Given the description of an element on the screen output the (x, y) to click on. 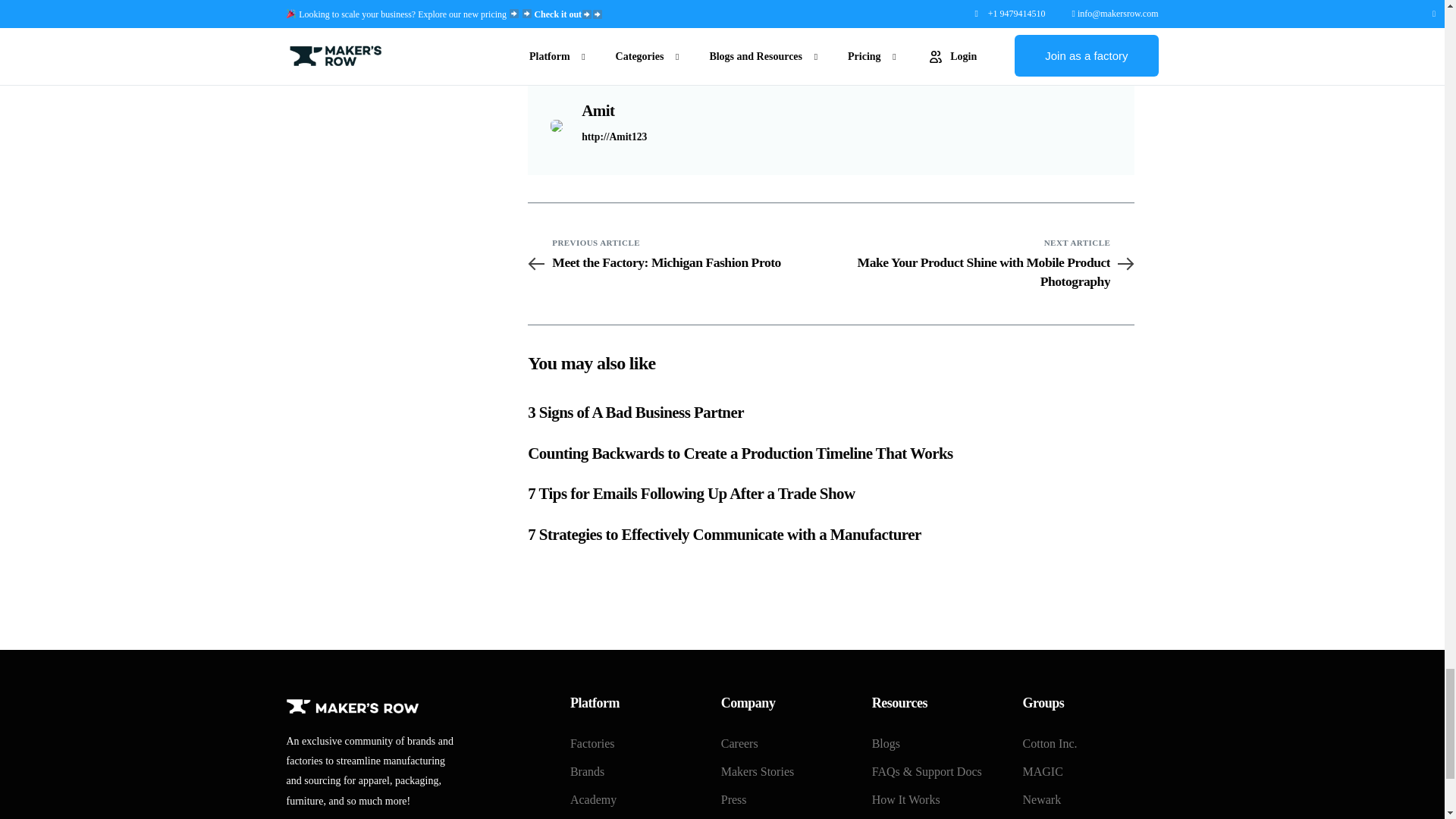
Permanent Link to 3 Signs of A Bad Business Partner (635, 412)
Meet the Factory: Michigan Fashion Proto (678, 262)
Posts by Amit (597, 110)
Make Your Product Shine with Mobile Product Photography (982, 272)
